Given the description of an element on the screen output the (x, y) to click on. 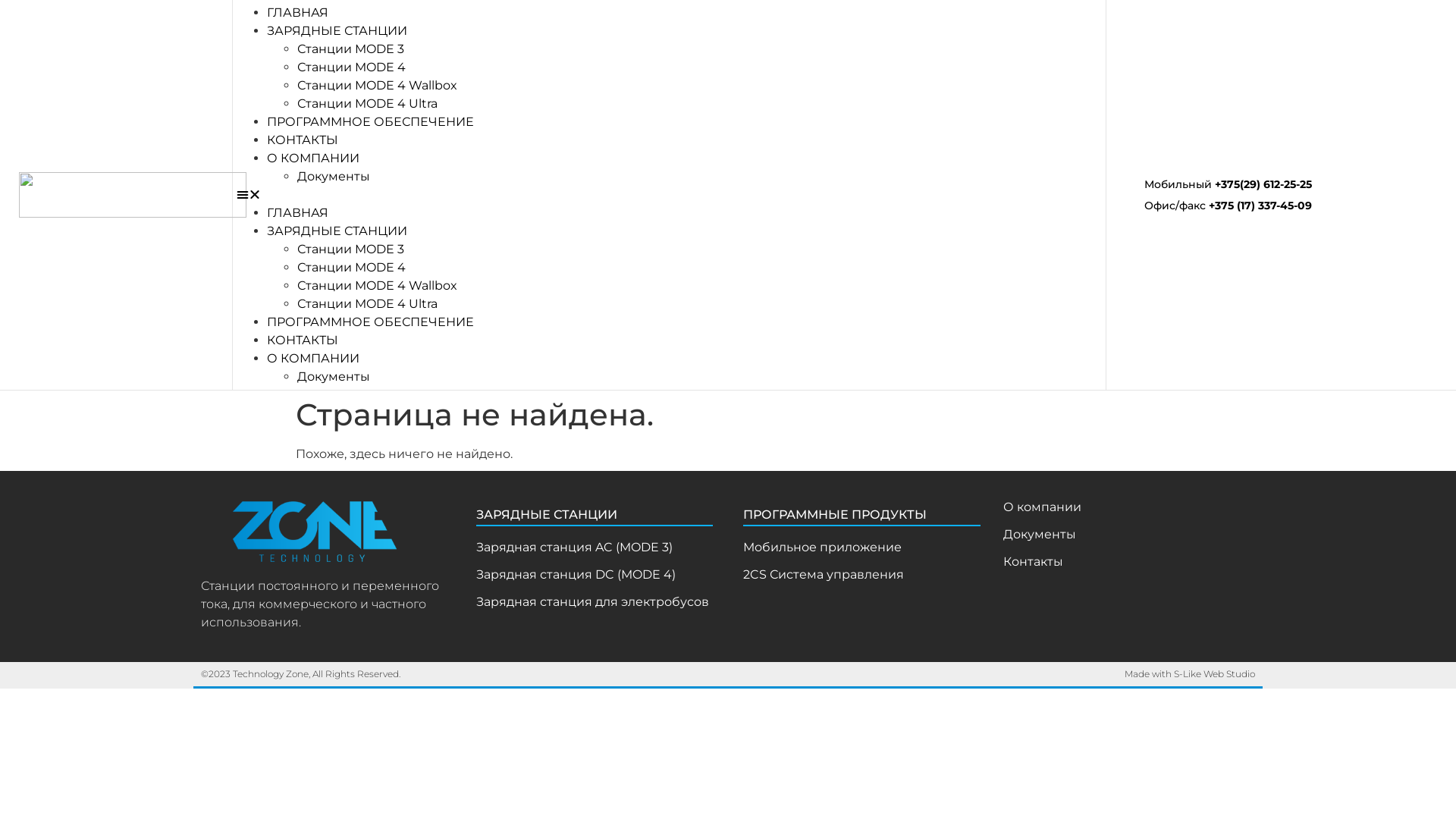
S-Like Web Studio Element type: text (1214, 673)
